Given the description of an element on the screen output the (x, y) to click on. 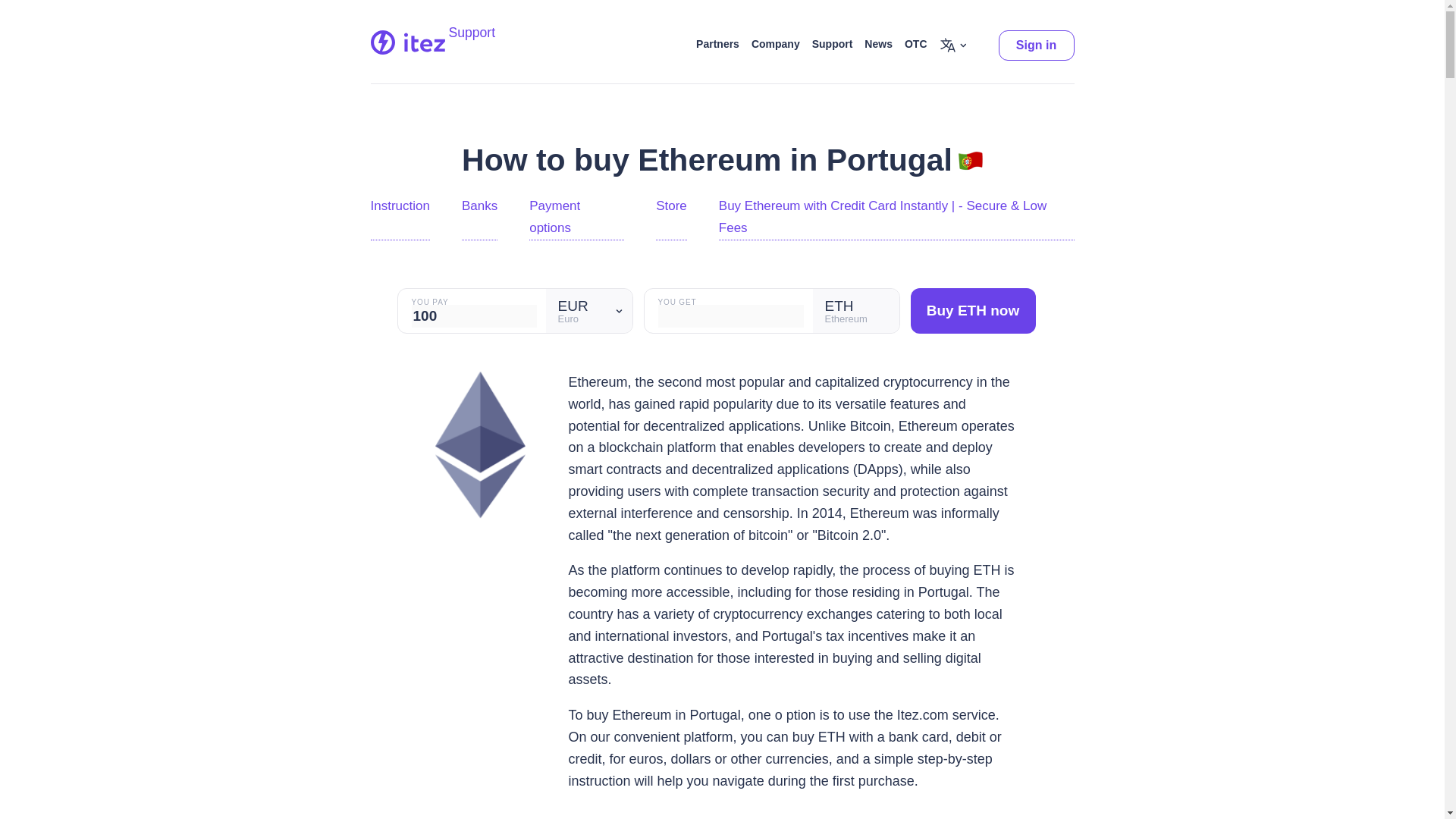
News (878, 45)
Partners (717, 45)
Support (472, 40)
Support (832, 45)
OTC (915, 45)
100 (472, 315)
